Given the description of an element on the screen output the (x, y) to click on. 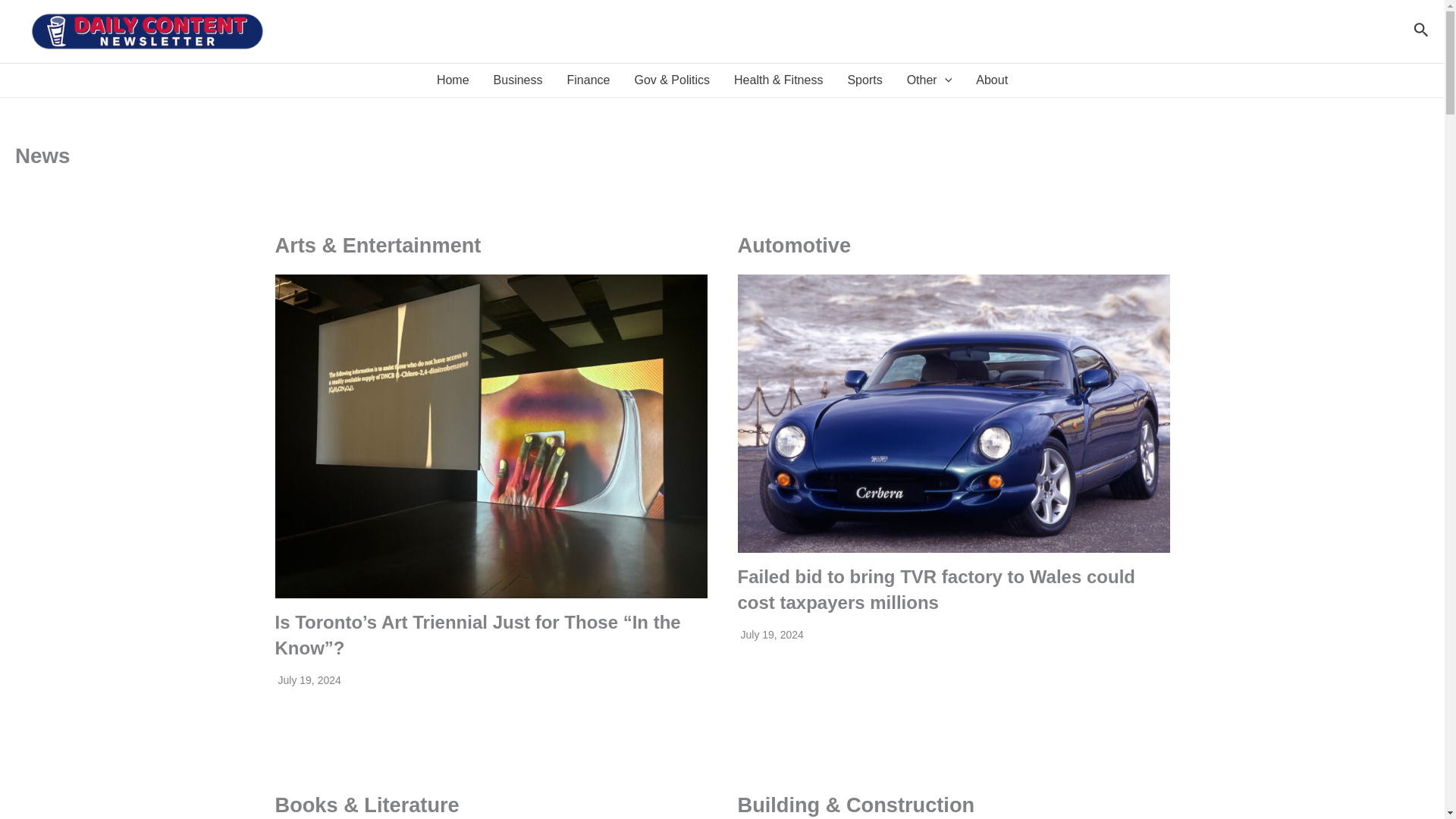
Sports (863, 80)
Business (517, 80)
Finance (588, 80)
Home (453, 80)
About (991, 80)
Other (929, 80)
